Given the description of an element on the screen output the (x, y) to click on. 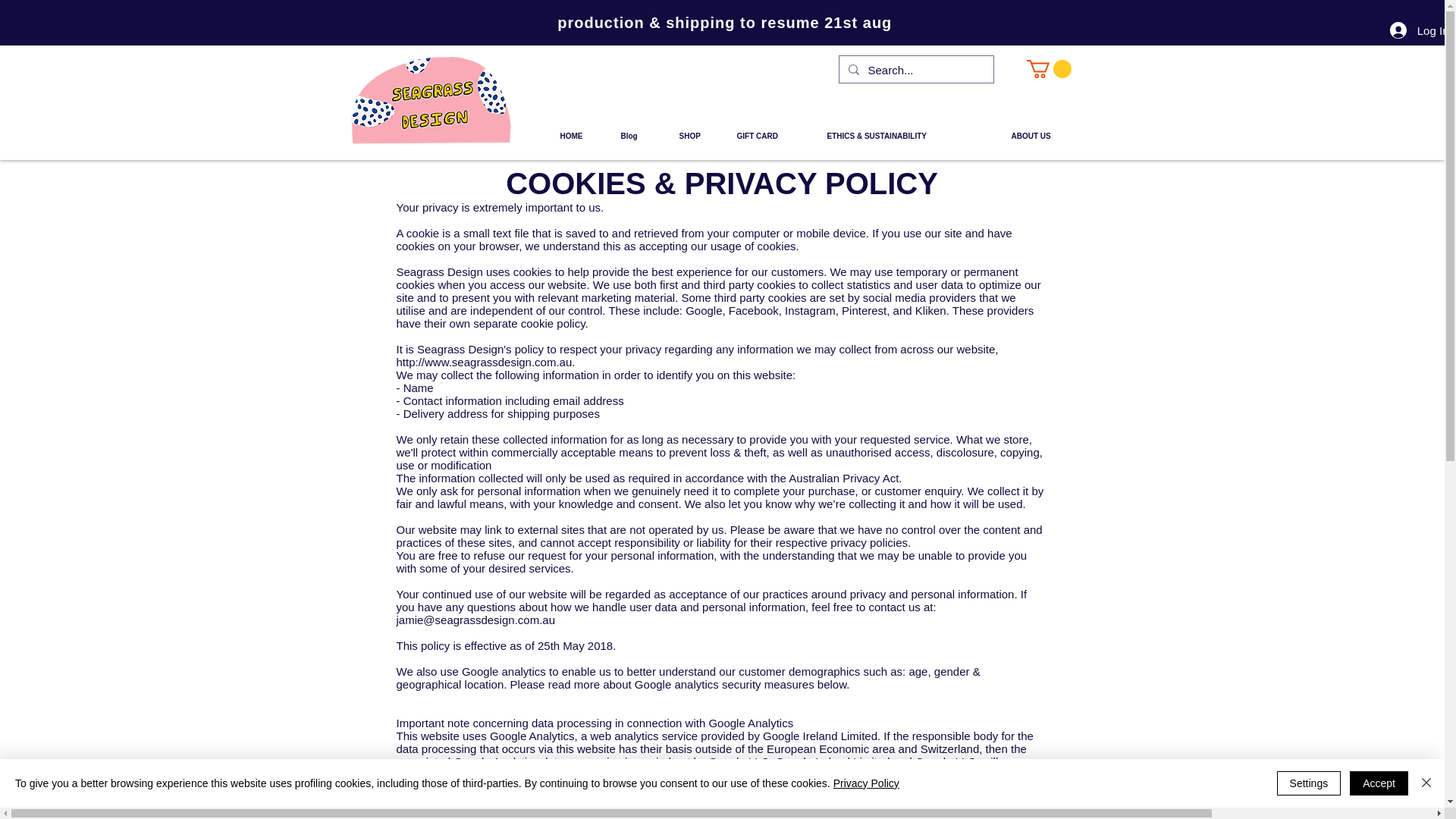
ABOUT US (1042, 136)
HOME (578, 136)
SHOP (695, 136)
Privacy Policy (865, 783)
Accept (1378, 783)
GIFT CARD (770, 136)
Blog (637, 136)
Log In (1417, 30)
